Given the description of an element on the screen output the (x, y) to click on. 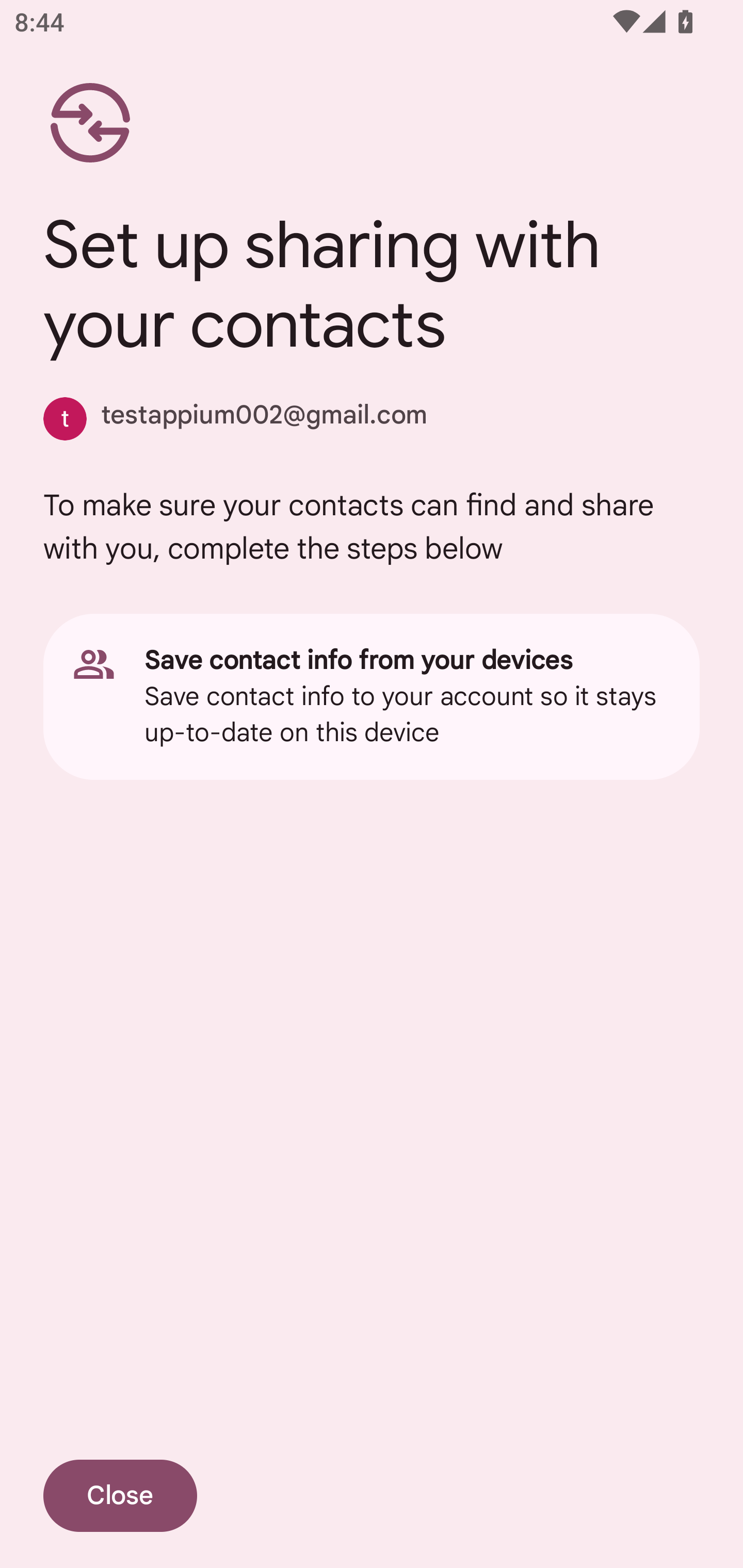
Close (119, 1495)
